Given the description of an element on the screen output the (x, y) to click on. 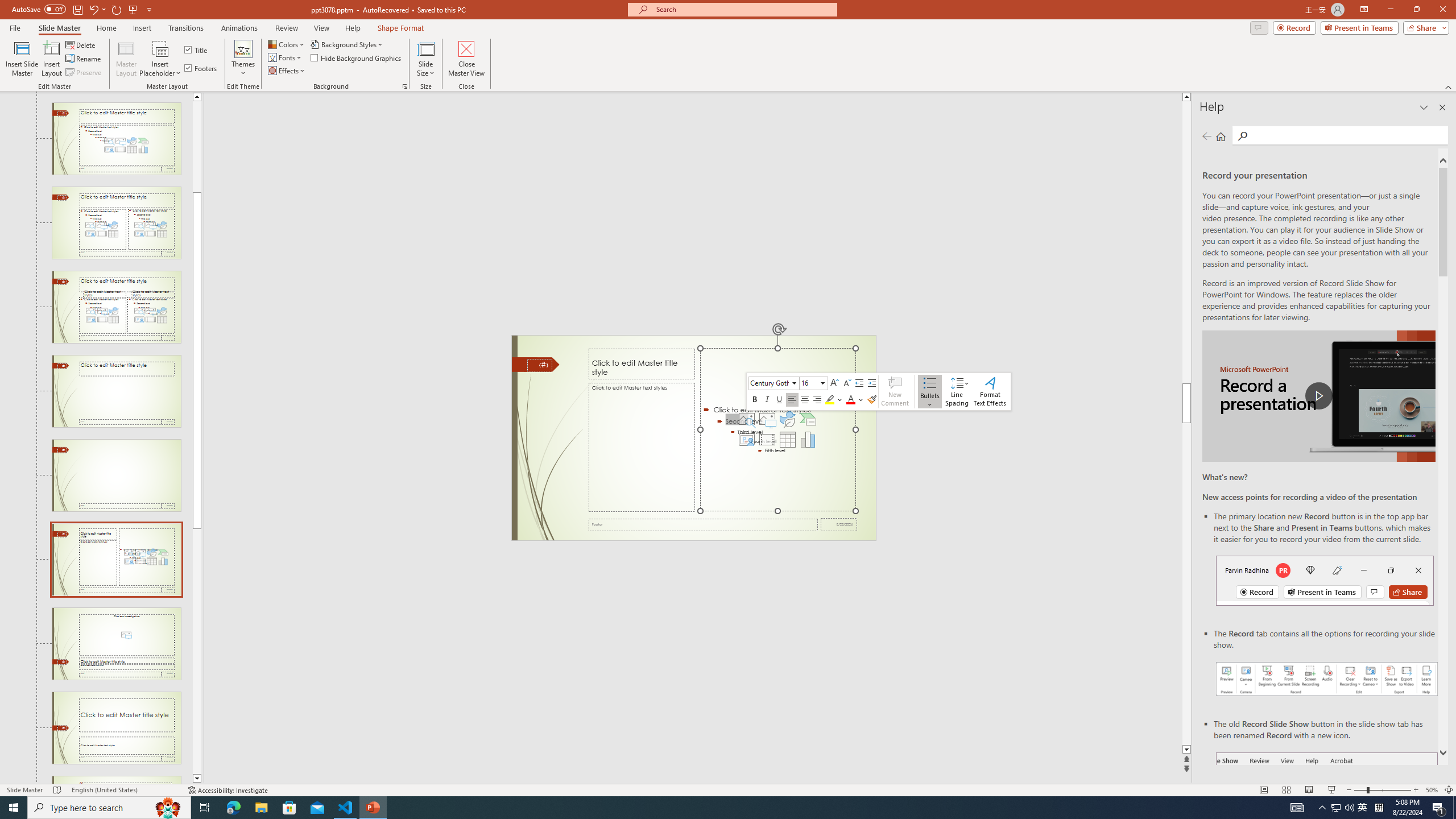
Class: NetUITextbox (809, 382)
Footer (703, 524)
Insert Placeholder (160, 58)
Content (160, 48)
Previous page (1206, 136)
